Given the description of an element on the screen output the (x, y) to click on. 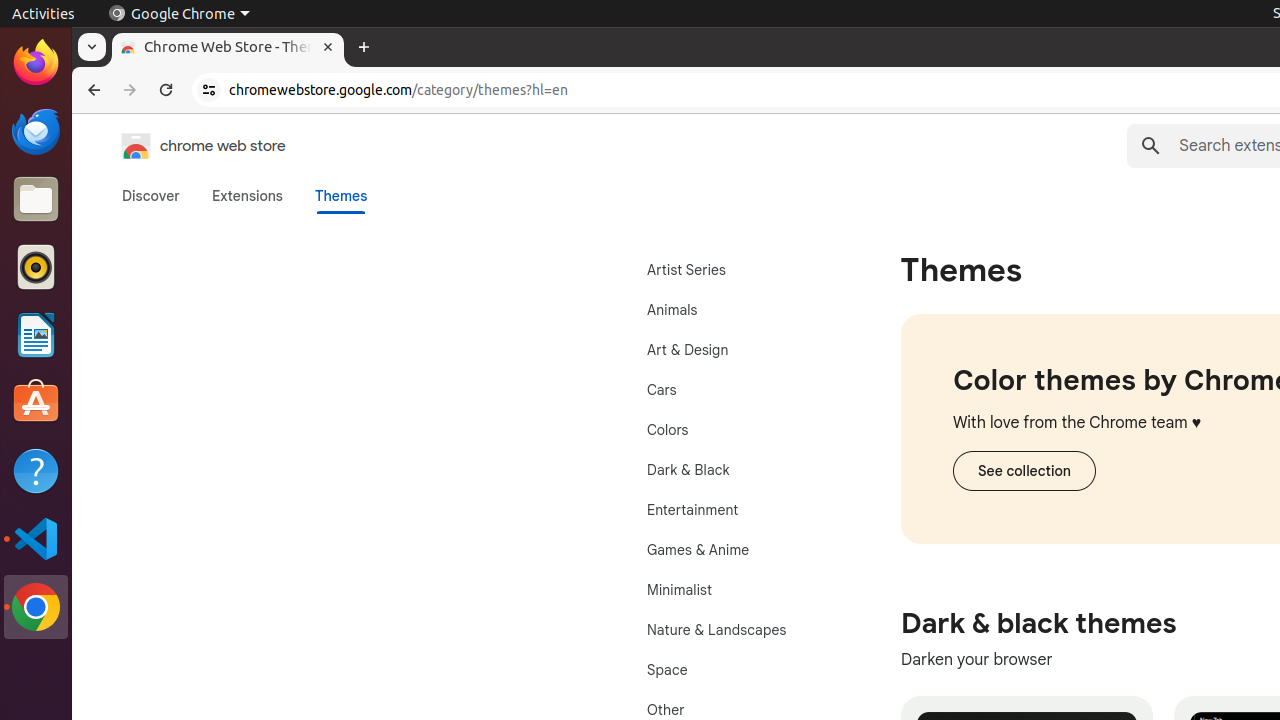
Dark & Black Element type: menu-item (737, 470)
See the "Color themes by Chrome" collection Element type: link (1024, 471)
Animals Element type: menu-item (737, 310)
Nature & Landscapes Element type: menu-item (737, 630)
Visual Studio Code Element type: push-button (36, 538)
